Given the description of an element on the screen output the (x, y) to click on. 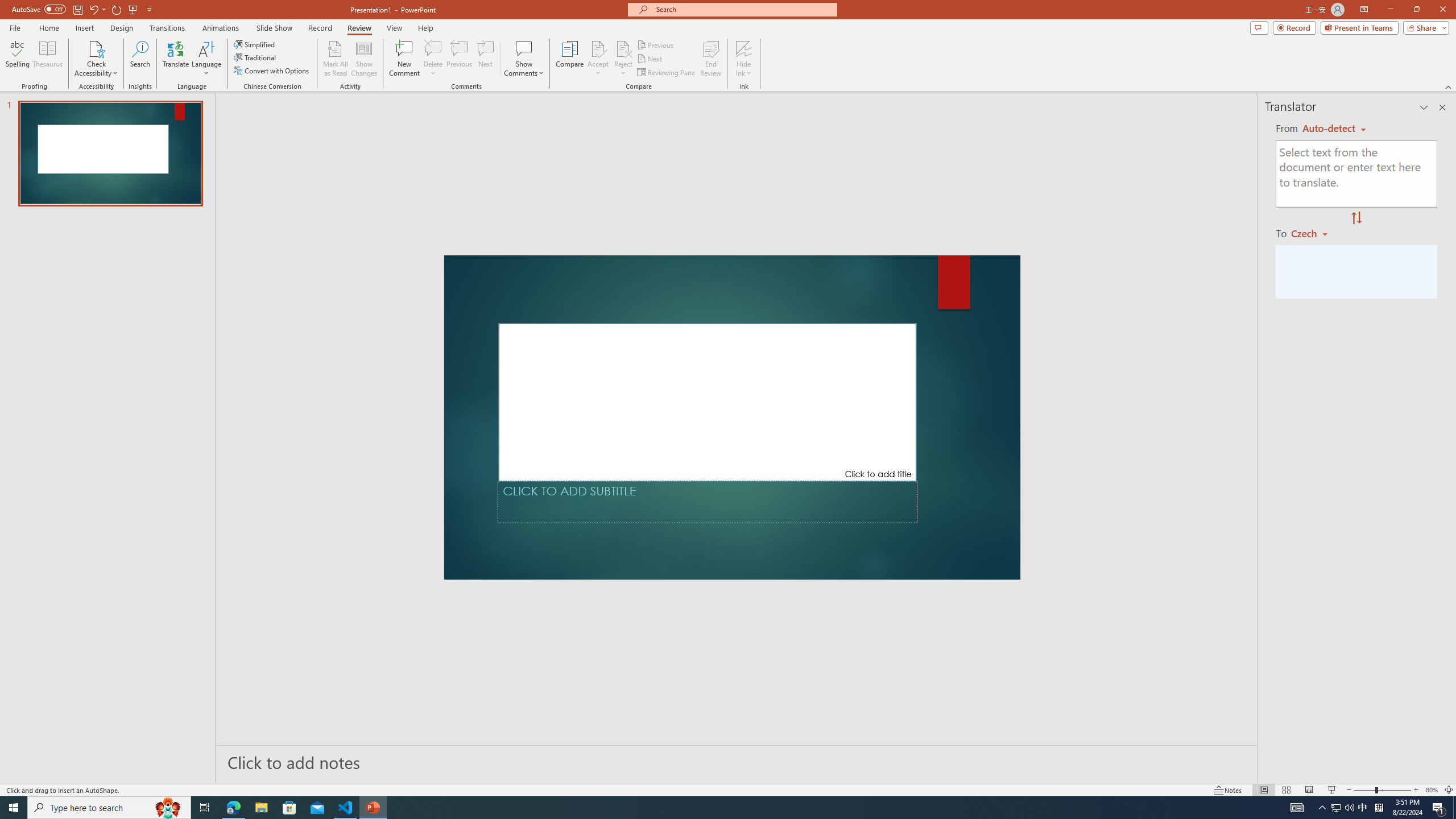
Show Comments (524, 48)
Reject (622, 58)
Simplified (254, 44)
Compare (569, 58)
Mark All as Read (335, 58)
